Given the description of an element on the screen output the (x, y) to click on. 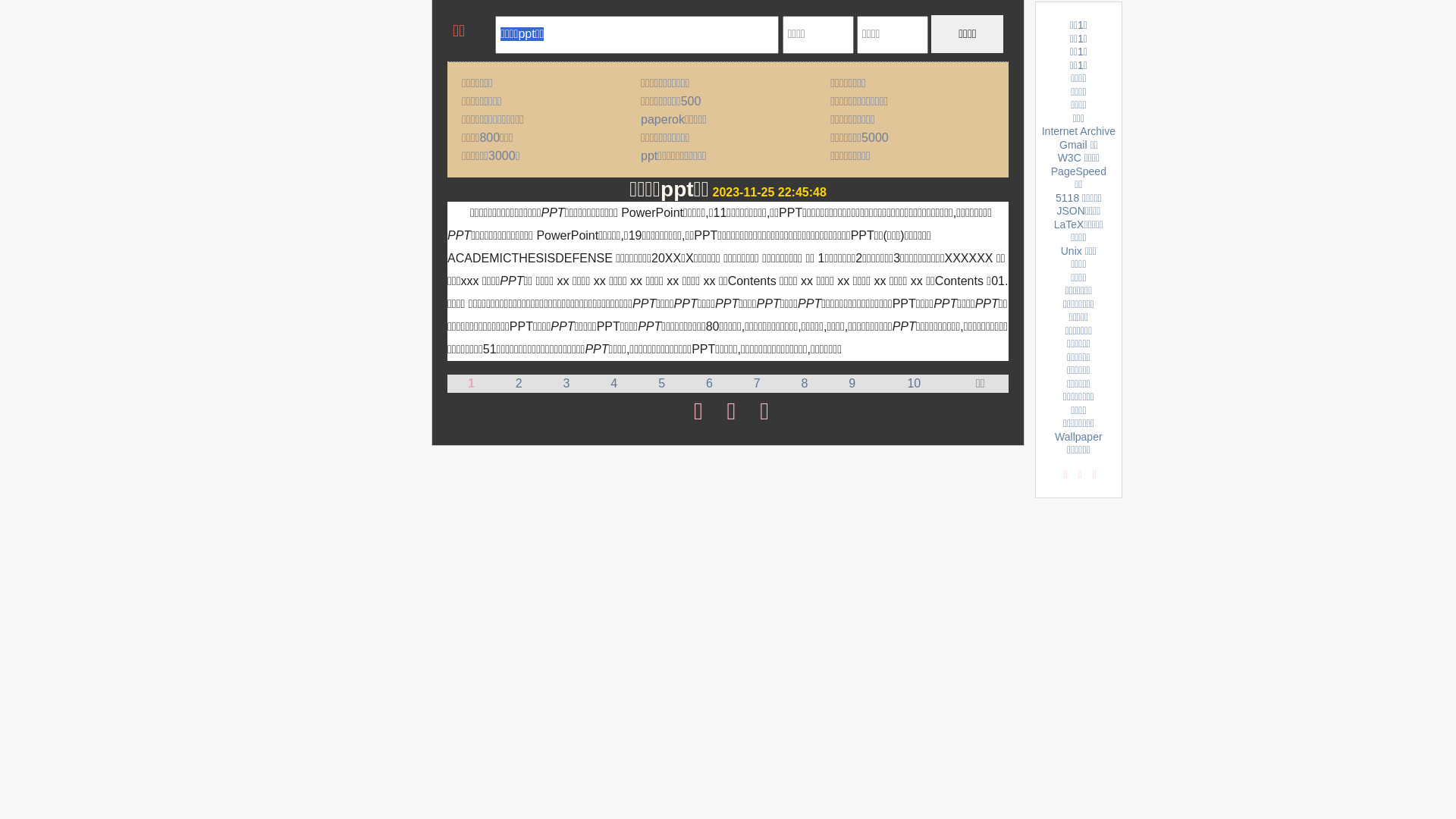
no canvas Element type: text (472, 33)
3 Element type: text (566, 382)
8 Element type: text (804, 382)
2023-11-25 22:45:48 Element type: text (769, 191)
5 Element type: text (661, 382)
2 Element type: text (518, 382)
Wallpaper Element type: text (1078, 436)
7 Element type: text (756, 382)
PageSpeed Element type: text (1078, 171)
4 Element type: text (613, 382)
6 Element type: text (709, 382)
10 Element type: text (913, 382)
Internet Archive Element type: text (1078, 131)
9 Element type: text (851, 382)
